Given the description of an element on the screen output the (x, y) to click on. 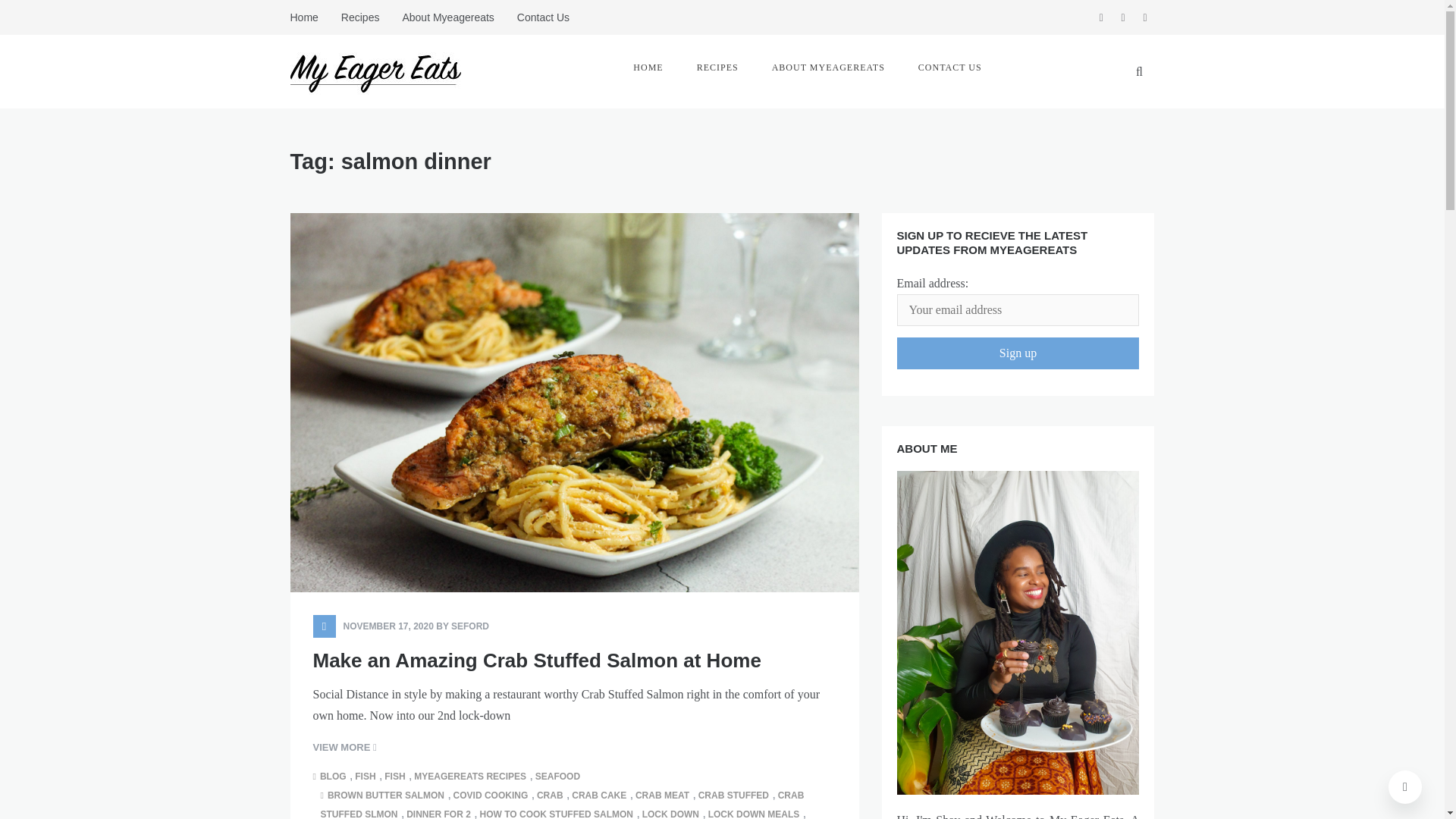
VIEW MORE (344, 747)
RECIPES (717, 67)
LOCK DOWN (672, 814)
COVID COOKING (492, 795)
CRAB (552, 795)
SEAFOOD (559, 776)
CRAB STUFFED SLMON (561, 804)
Home (309, 17)
CONTACT US (949, 67)
SEFORD (470, 625)
CRAB CAKE (601, 795)
Make an Amazing Crab Stuffed Salmon at Home (536, 660)
CRAB MEAT (663, 795)
Go to Top (1405, 786)
Recipes (360, 17)
